Given the description of an element on the screen output the (x, y) to click on. 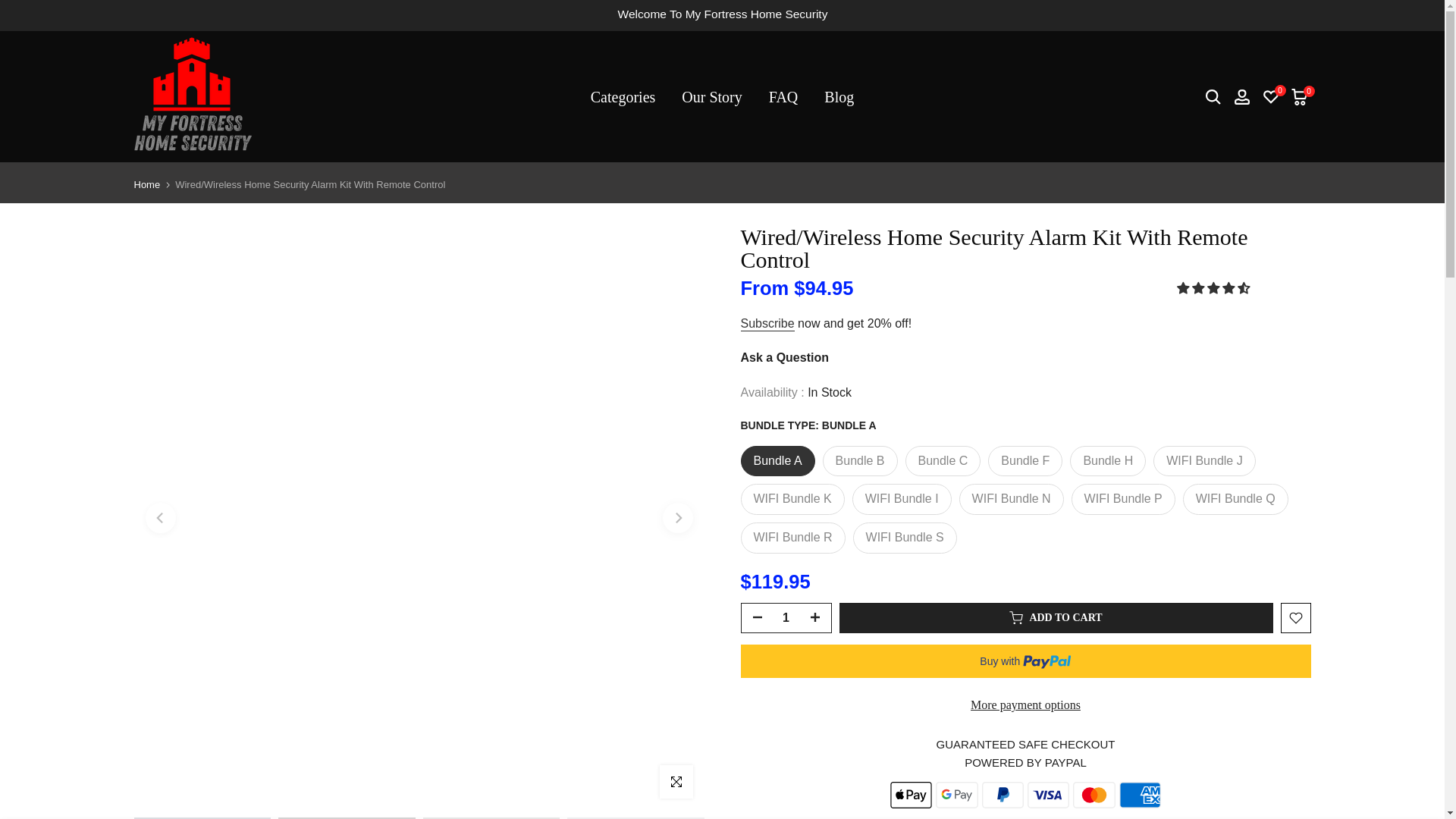
Skip to content (10, 7)
0 (1298, 95)
0 (1270, 95)
1 (786, 617)
Blog (838, 96)
subscribe (766, 323)
FAQ (782, 96)
Our Story (711, 96)
Categories (622, 96)
Home (146, 184)
